Given the description of an element on the screen output the (x, y) to click on. 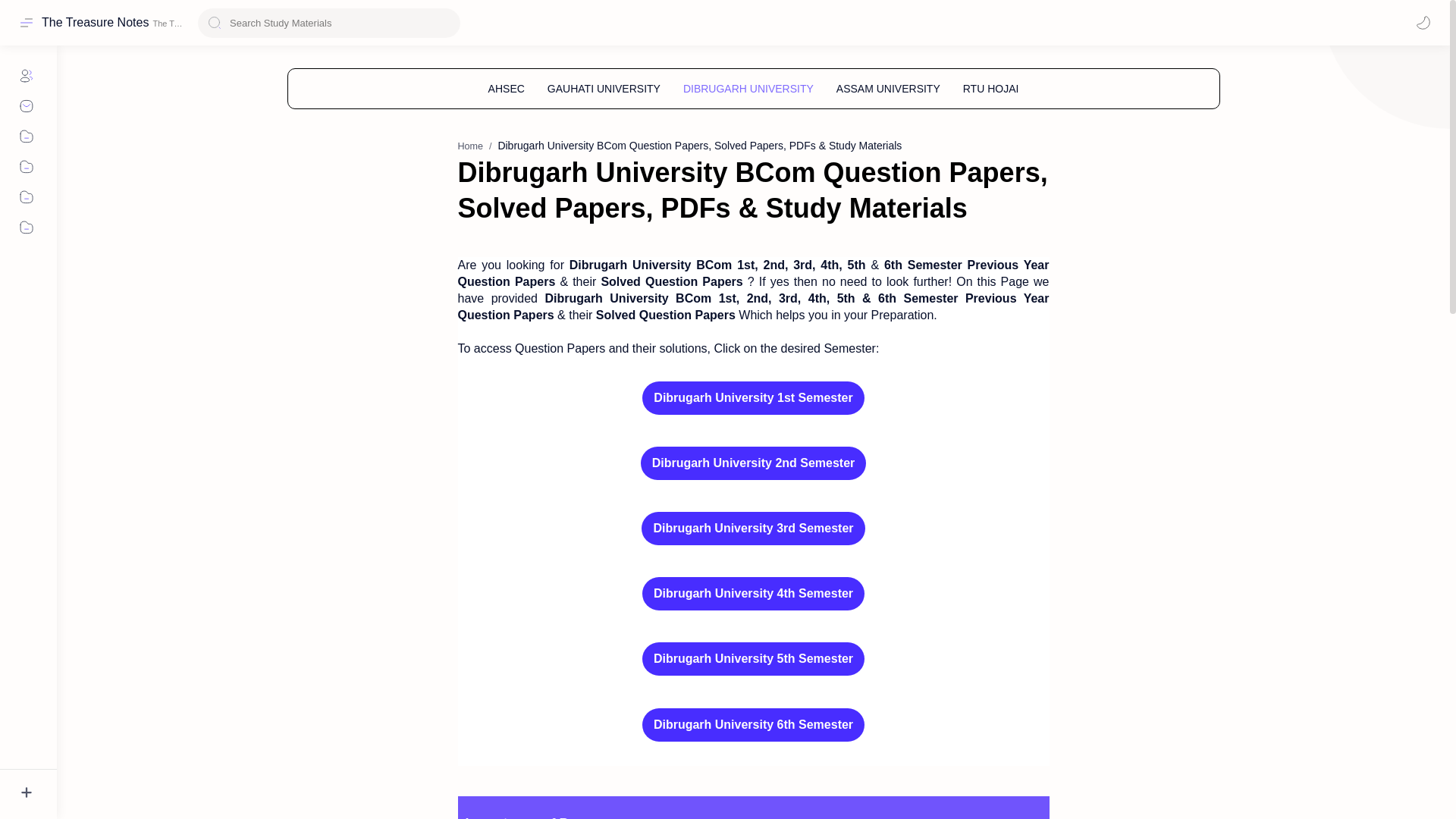
Dibrugarh University 2nd Semester (753, 462)
Dibrugarh University 1st Semester (752, 397)
Home (470, 145)
Dibrugarh University 6th Semester (753, 725)
The Treasure Notes (95, 22)
Dibrugarh University 3rd Semester (753, 528)
Dibrugarh University 4th Semester (753, 593)
Dibrugarh University 5th Semester (753, 658)
